Given the description of an element on the screen output the (x, y) to click on. 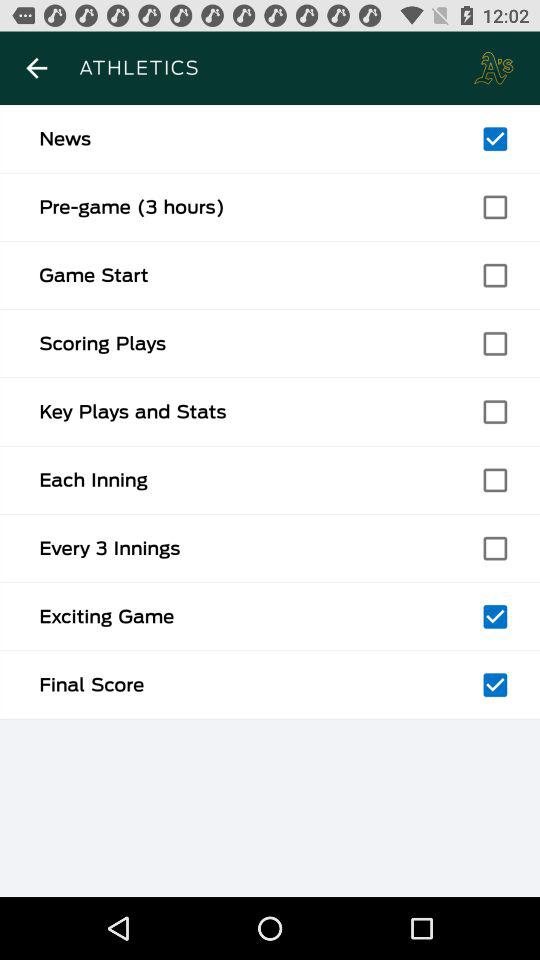
toggle checkmark (495, 548)
